Given the description of an element on the screen output the (x, y) to click on. 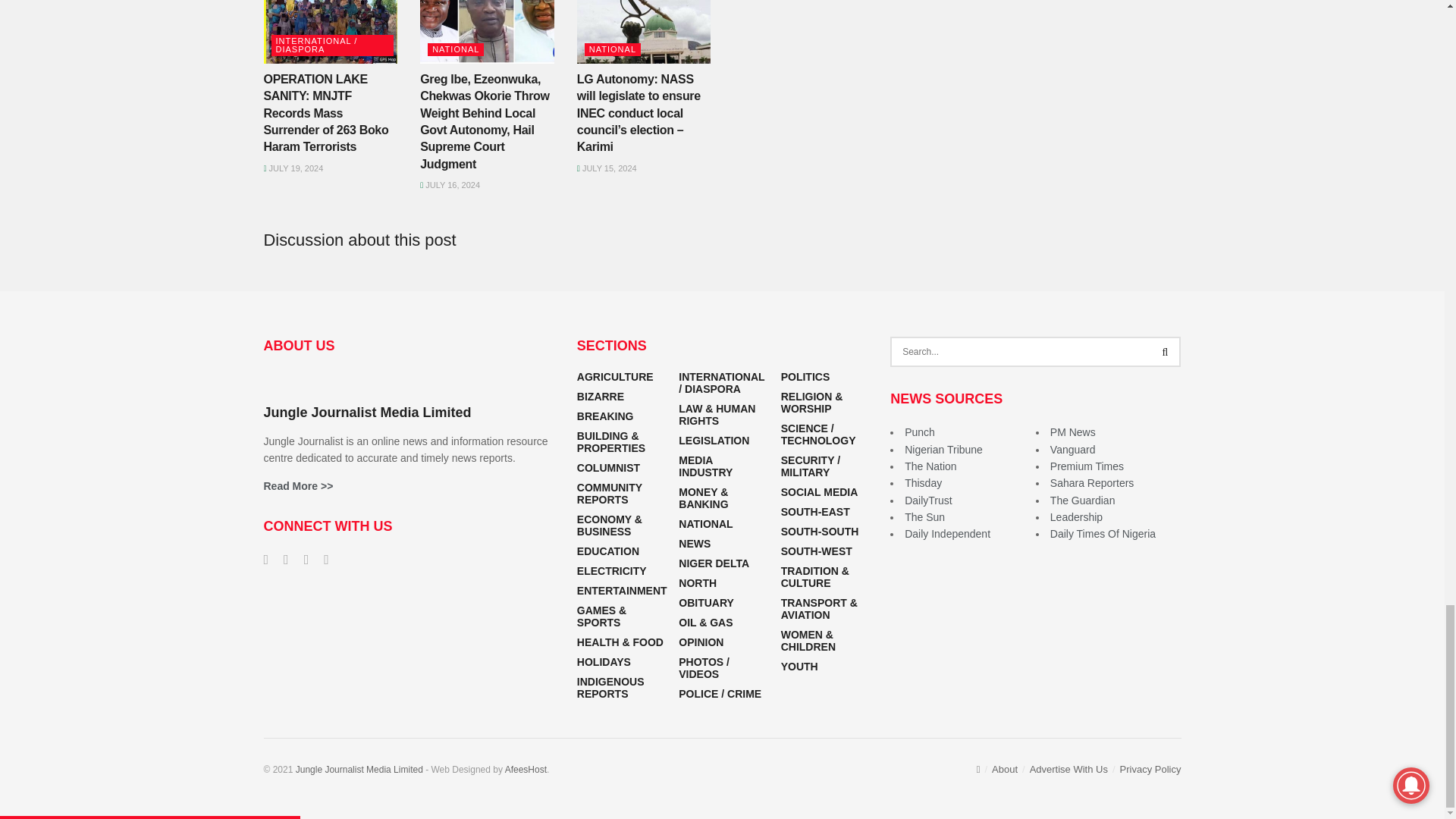
About Jungle Journalist Media Limited (298, 485)
Jungle Journalist Media Limited (359, 769)
Web Hosting (526, 769)
